Given the description of an element on the screen output the (x, y) to click on. 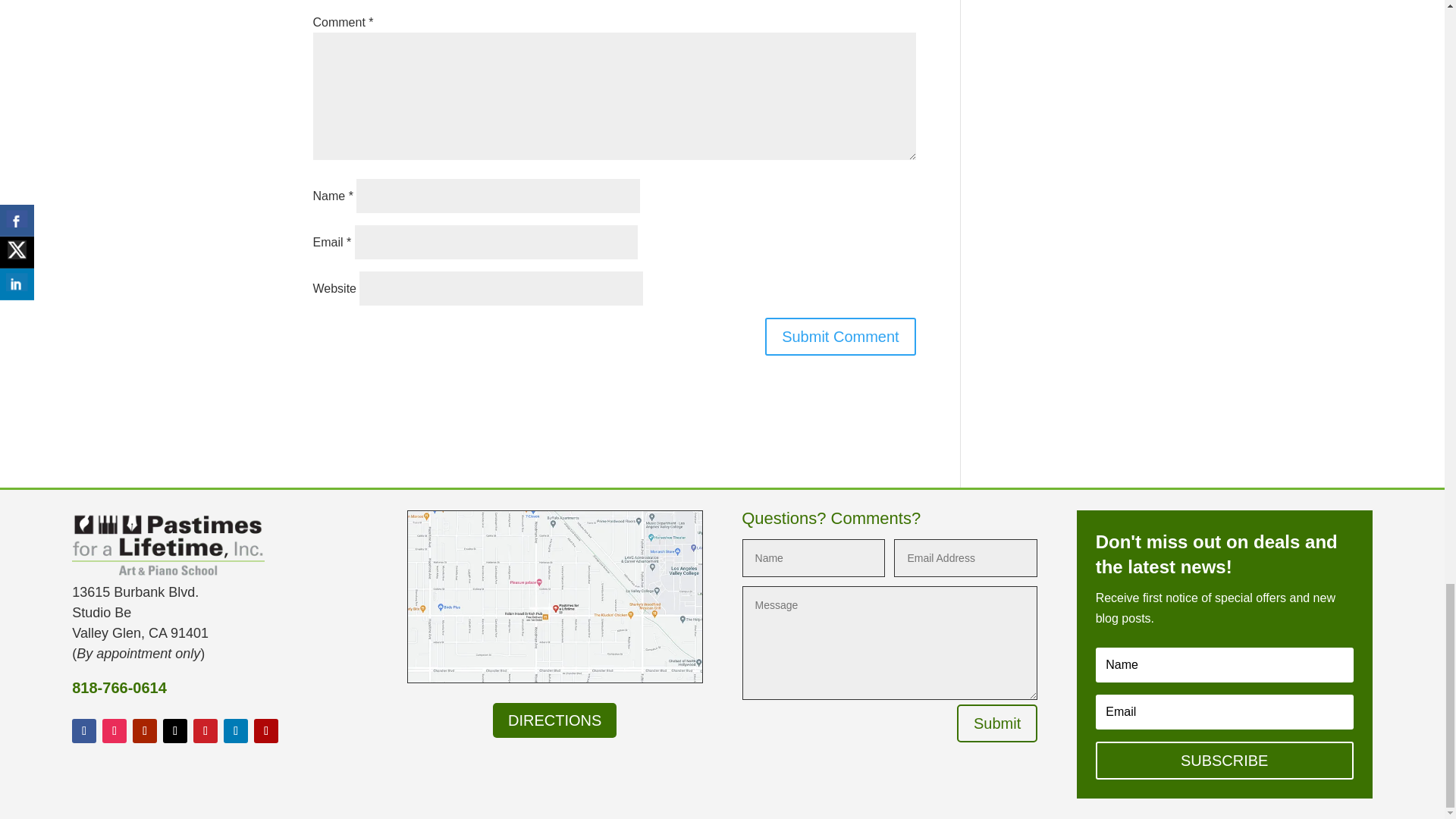
Follow on X (175, 730)
Follow on Facebook (83, 730)
Follow on Pinterest (204, 730)
Submit Comment (840, 336)
Follow on Youtube (144, 730)
Follow on LinkedIn (235, 730)
PFAL-Logo for website (167, 543)
Follow on Instagram (113, 730)
